Given the description of an element on the screen output the (x, y) to click on. 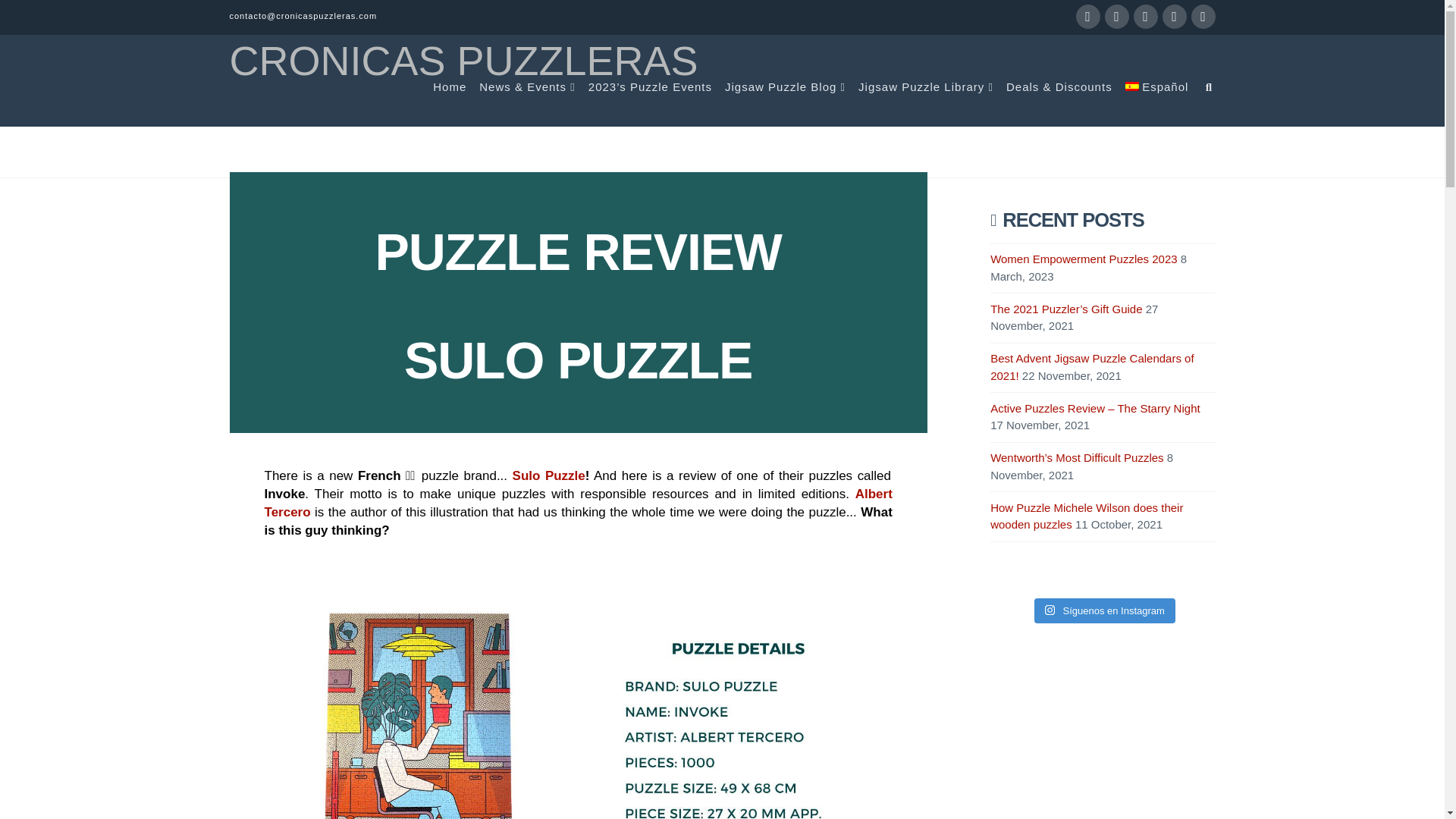
Pinterest (1202, 16)
Facebook (1087, 16)
Jigsaw Puzzle Library (924, 103)
Home (448, 103)
Jigsaw Puzzle Blog (784, 103)
Instagram (1173, 16)
YouTube (1144, 16)
CRONICAS PUZZLERAS (462, 60)
